Given the description of an element on the screen output the (x, y) to click on. 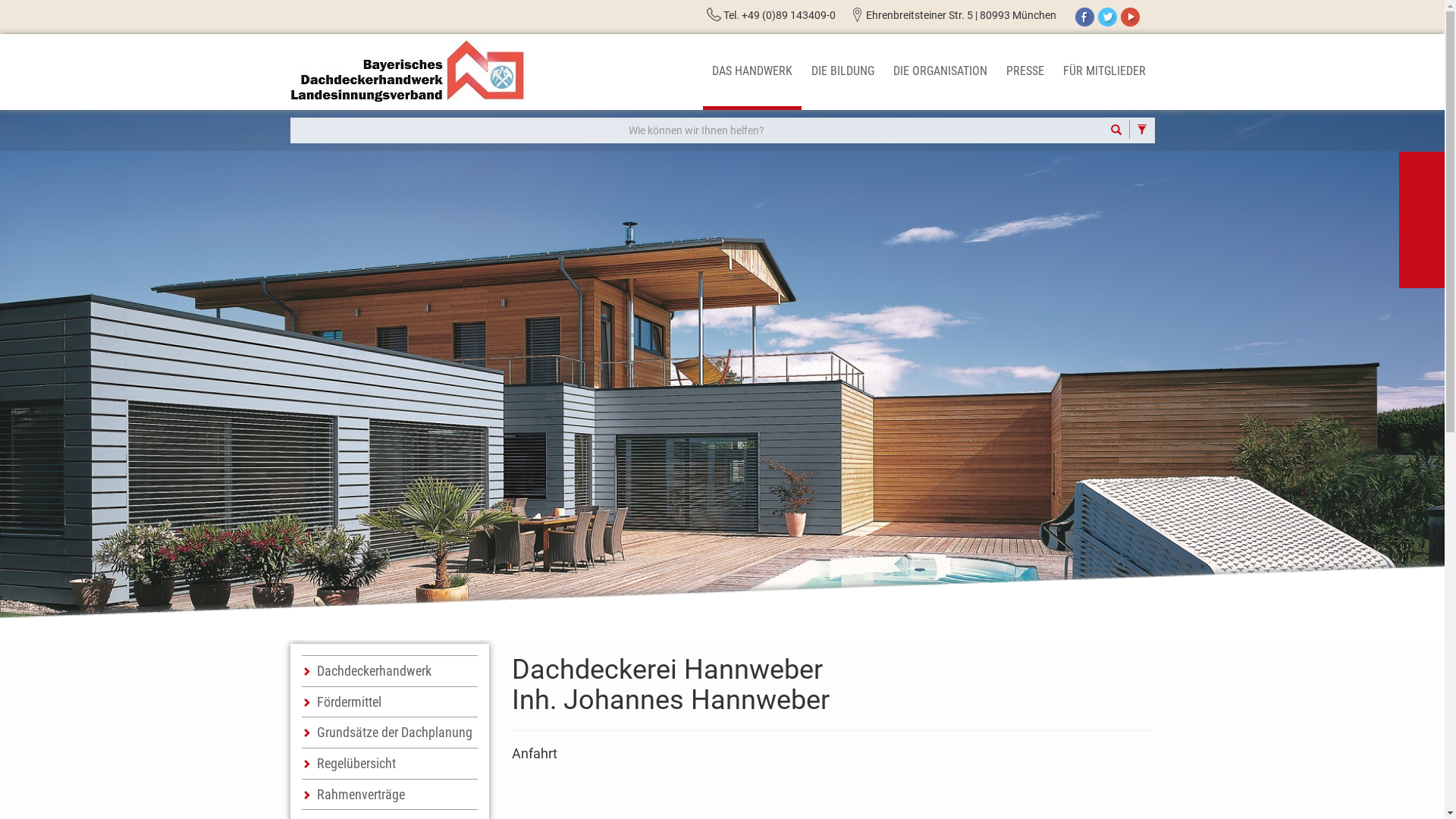
Bayerisches Dachdecker-Handwerk Element type: hover (407, 70)
DIE BILDUNG Element type: text (842, 71)
DAS HANDWERK Element type: text (751, 71)
Youtube Element type: text (1129, 16)
DIE ORGANISATION Element type: text (940, 71)
Twitter Element type: text (1107, 16)
Dachdeckerhandwerk Element type: text (389, 670)
Facebook Element type: text (1084, 16)
PRESSE Element type: text (1024, 71)
